Given the description of an element on the screen output the (x, y) to click on. 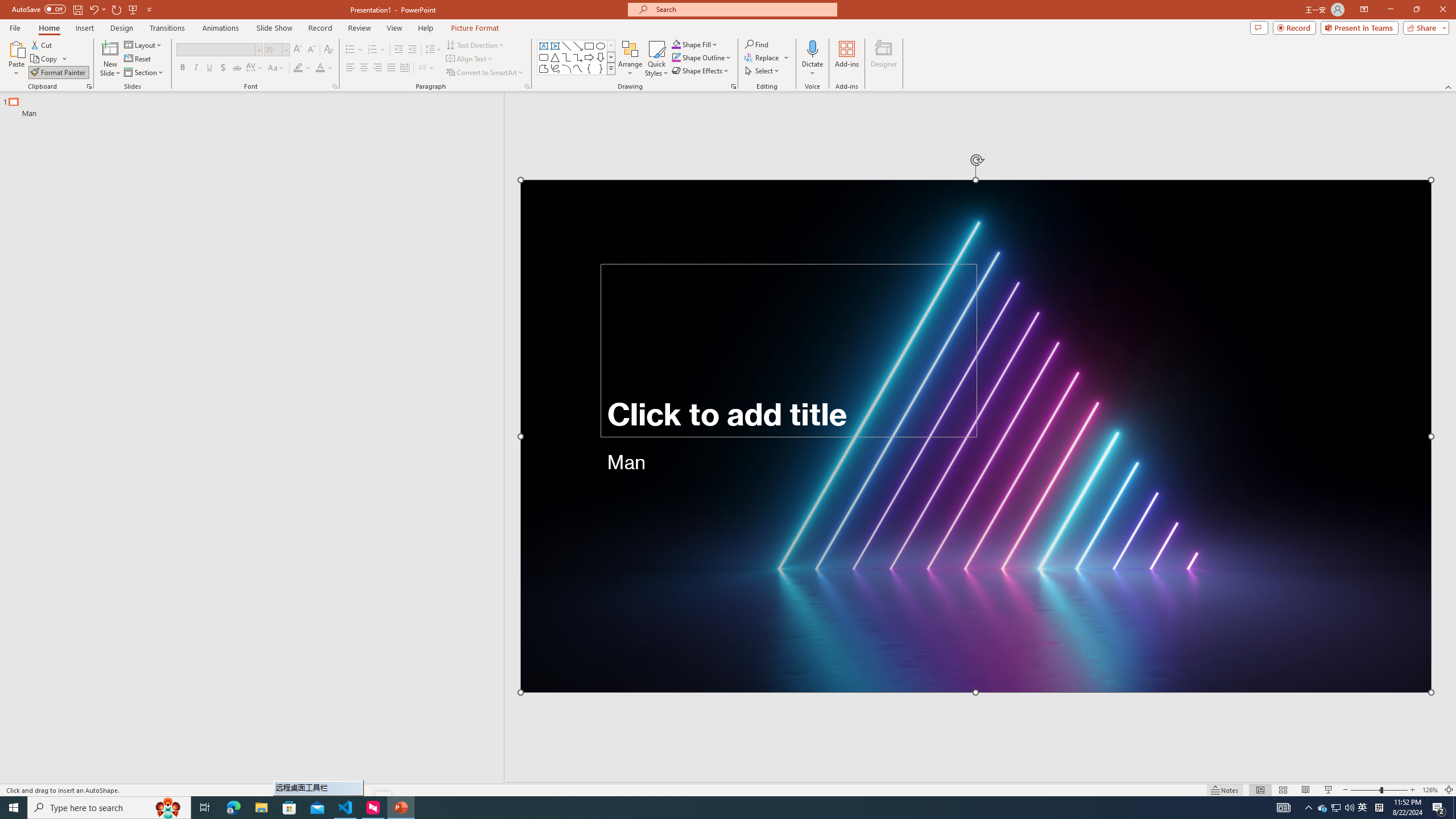
Shape Fill (694, 44)
Line (566, 45)
Quick Styles (656, 58)
Bold (182, 67)
Connector: Elbow Arrow (577, 57)
Convert to SmartArt (485, 72)
Shape Outline (701, 56)
Align Text (470, 58)
Text Direction (476, 44)
